Given the description of an element on the screen output the (x, y) to click on. 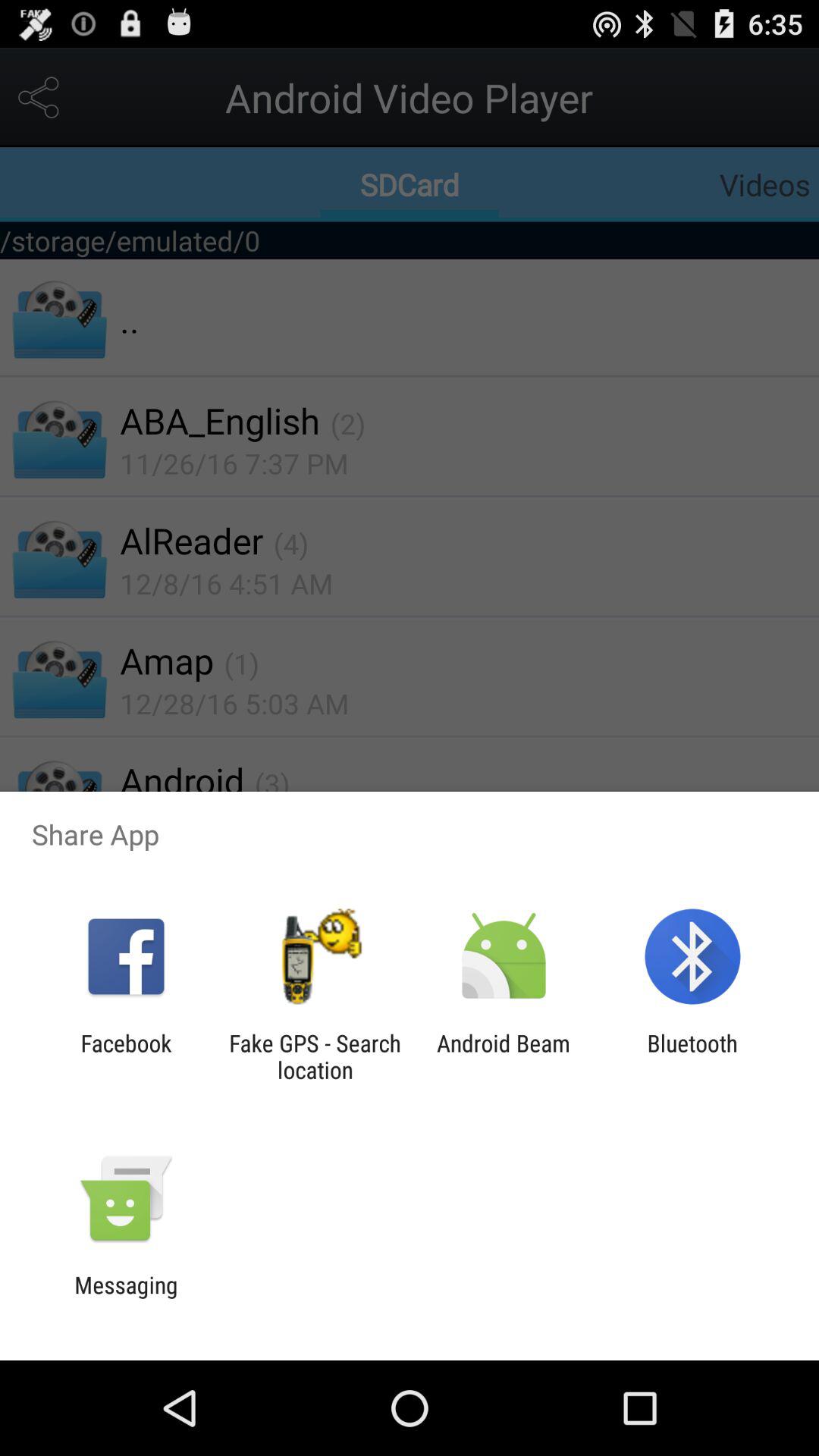
tap the fake gps search app (314, 1056)
